Given the description of an element on the screen output the (x, y) to click on. 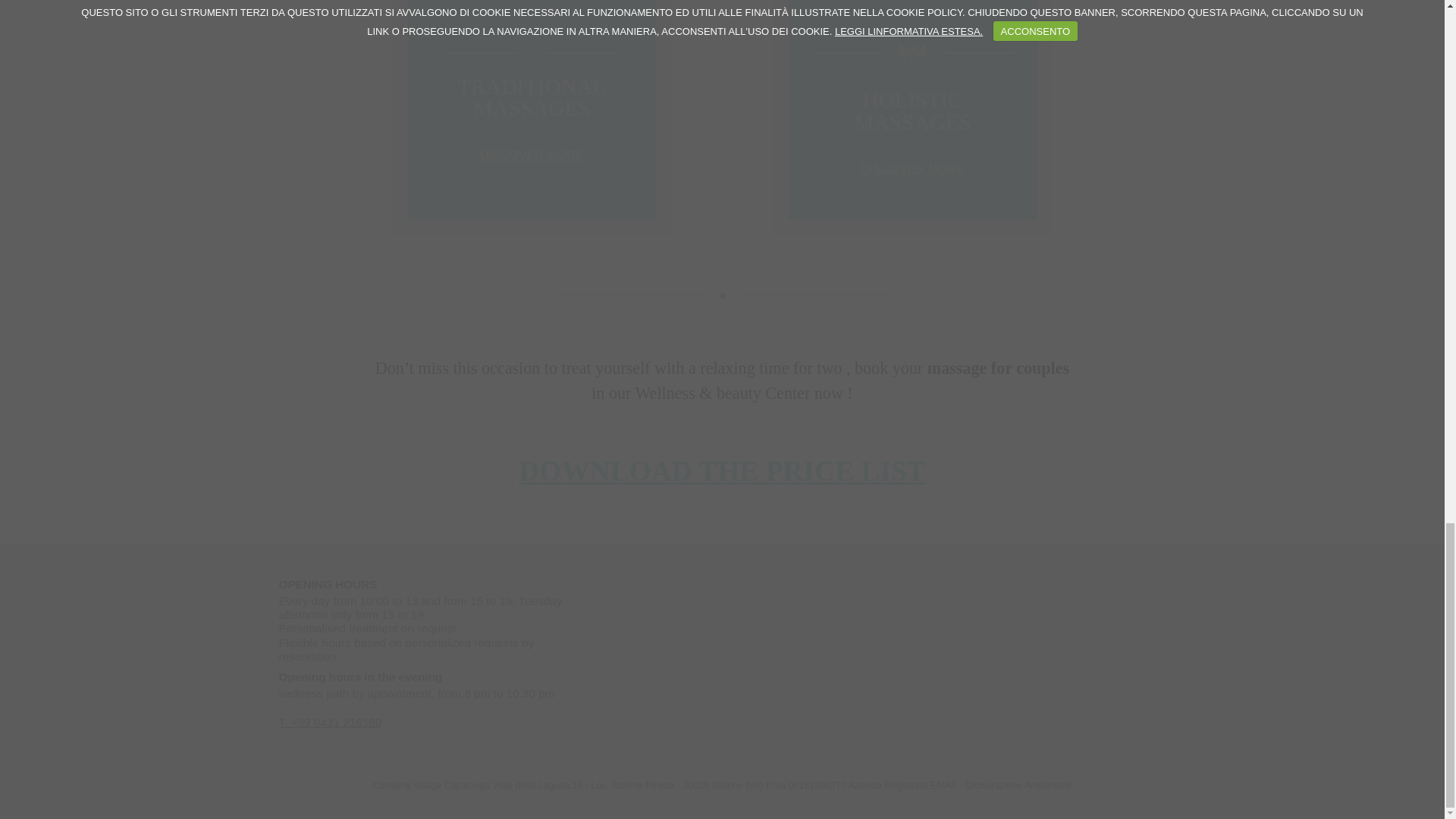
DOWNLOAD THE PRICE LIST (721, 470)
DISCOVER MORE (911, 168)
DISCOVER MORE (531, 154)
